Given the description of an element on the screen output the (x, y) to click on. 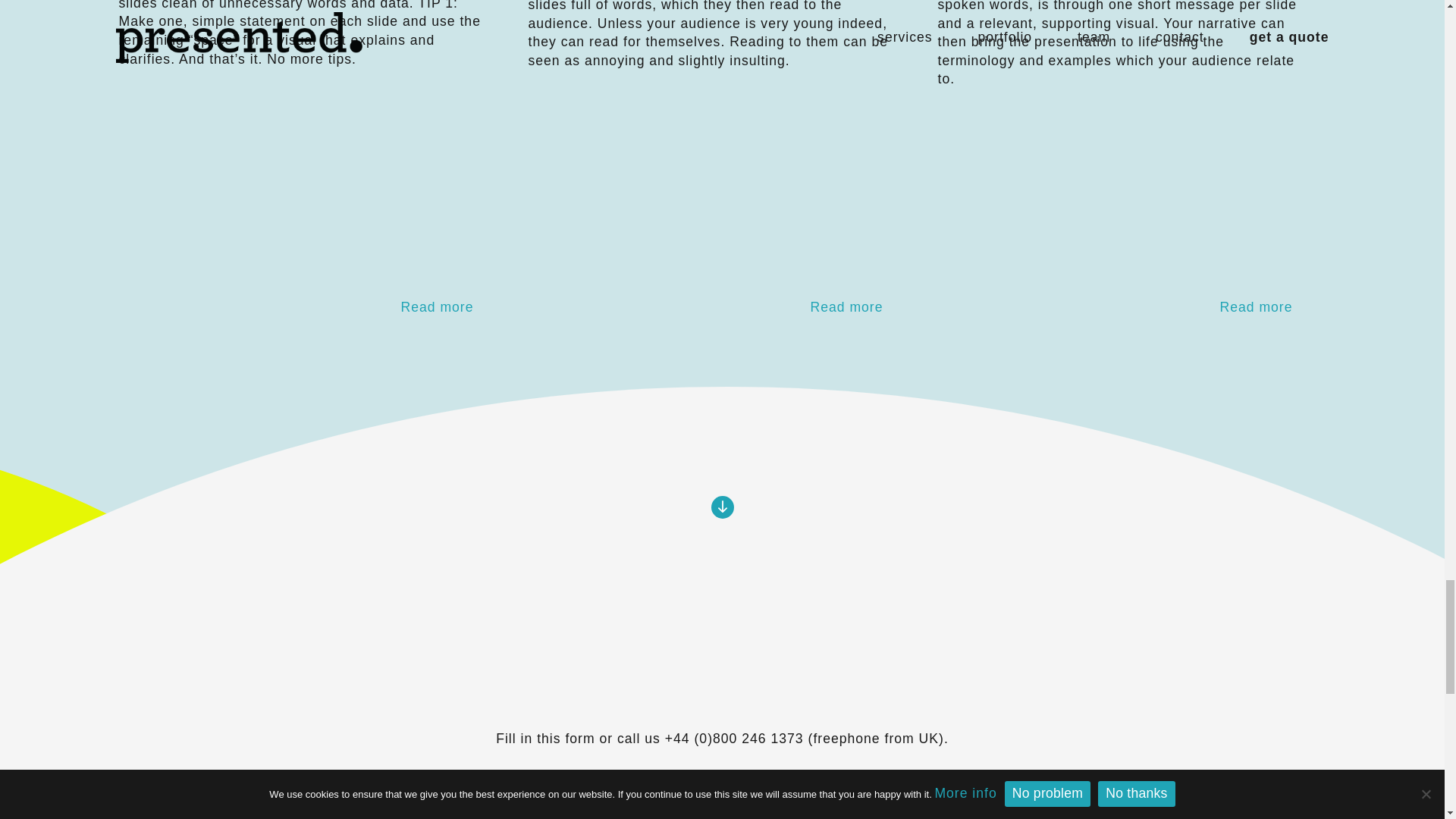
Read more (709, 307)
Read more (299, 307)
Read more (1119, 307)
How to create clean PowerPoint slides (299, 307)
